Given the description of an element on the screen output the (x, y) to click on. 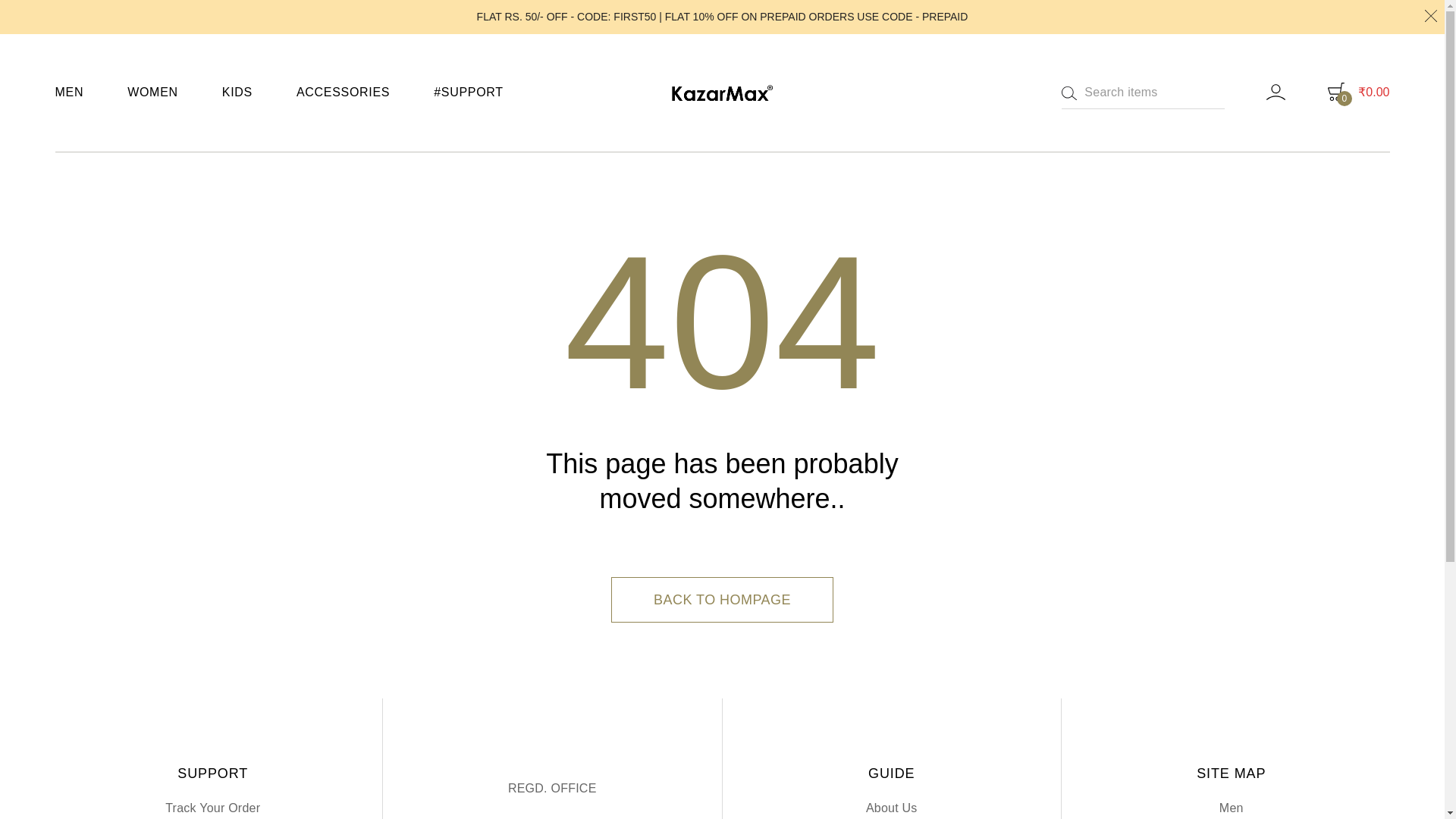
KazarMax (700, 111)
ACCESSORIES (343, 92)
